Given the description of an element on the screen output the (x, y) to click on. 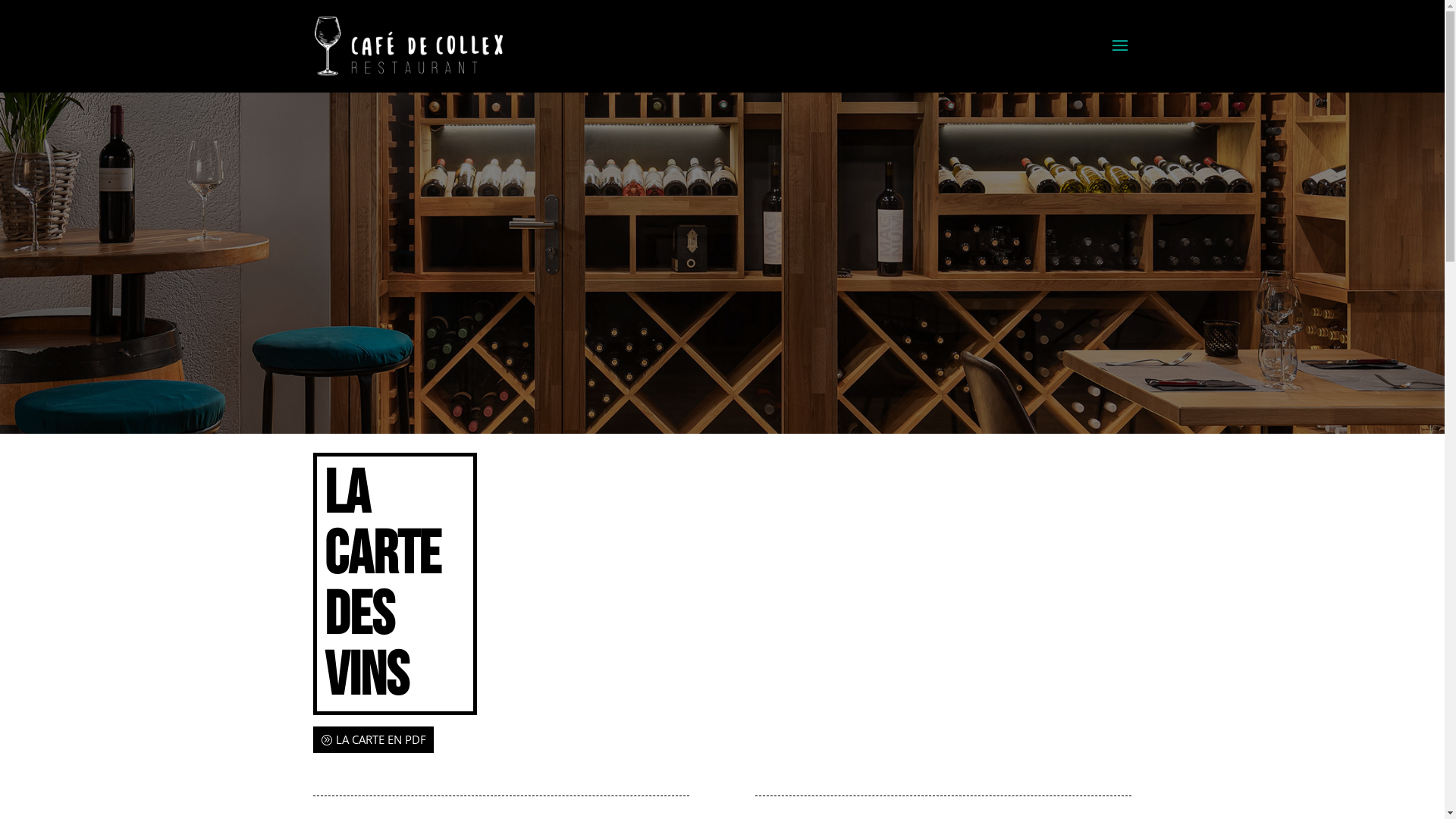
LA CARTE EN PDF Element type: text (372, 739)
